Given the description of an element on the screen output the (x, y) to click on. 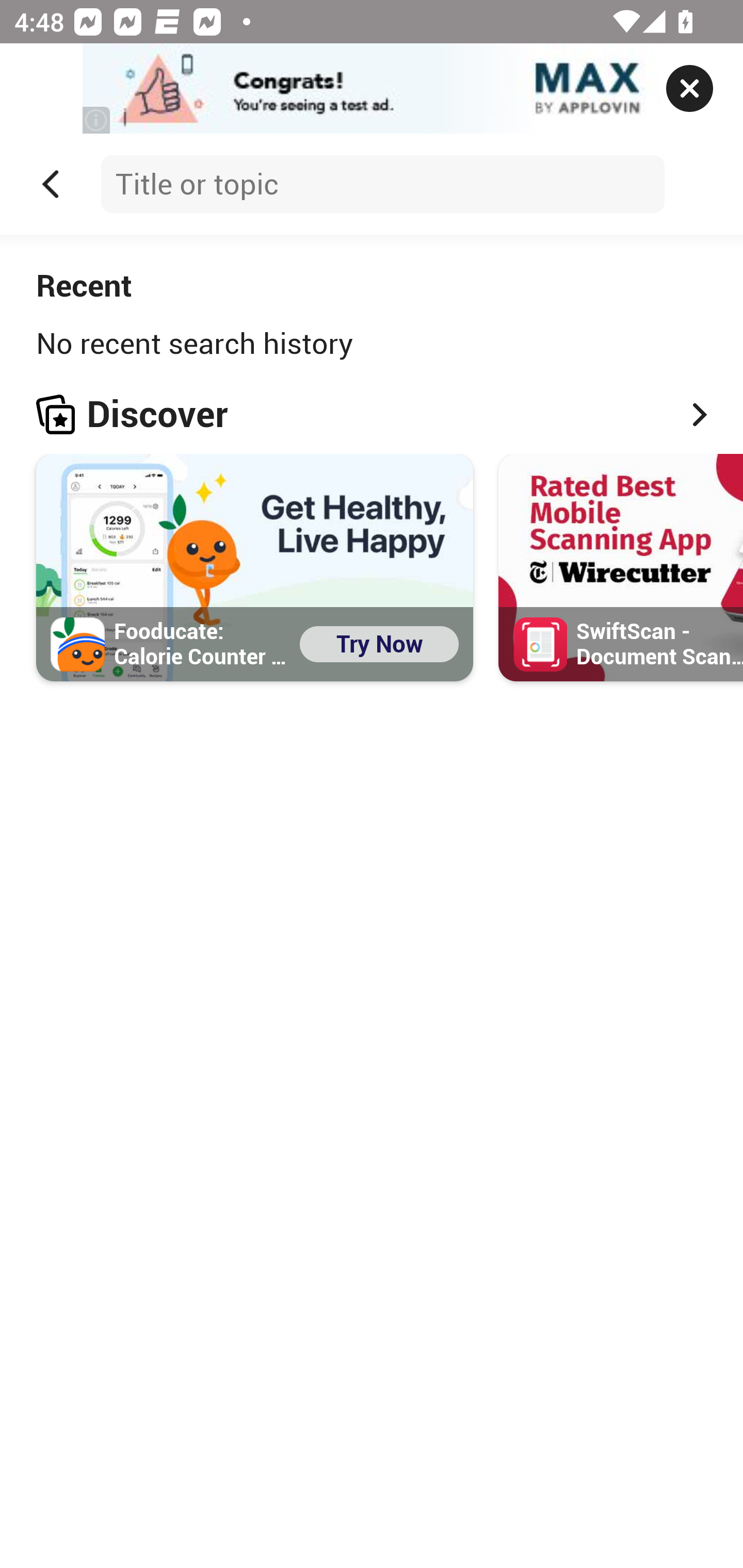
app-monetization (371, 88)
(i) (96, 119)
Collapse (50, 184)
Title or topic (382, 184)
Discover (371, 413)
Fooducate: Calorie Counter & Diet Tracker Try Now (254, 567)
SwiftScan - Document Scanner & PDF Editor (620, 567)
Try Now (378, 643)
